Given the description of an element on the screen output the (x, y) to click on. 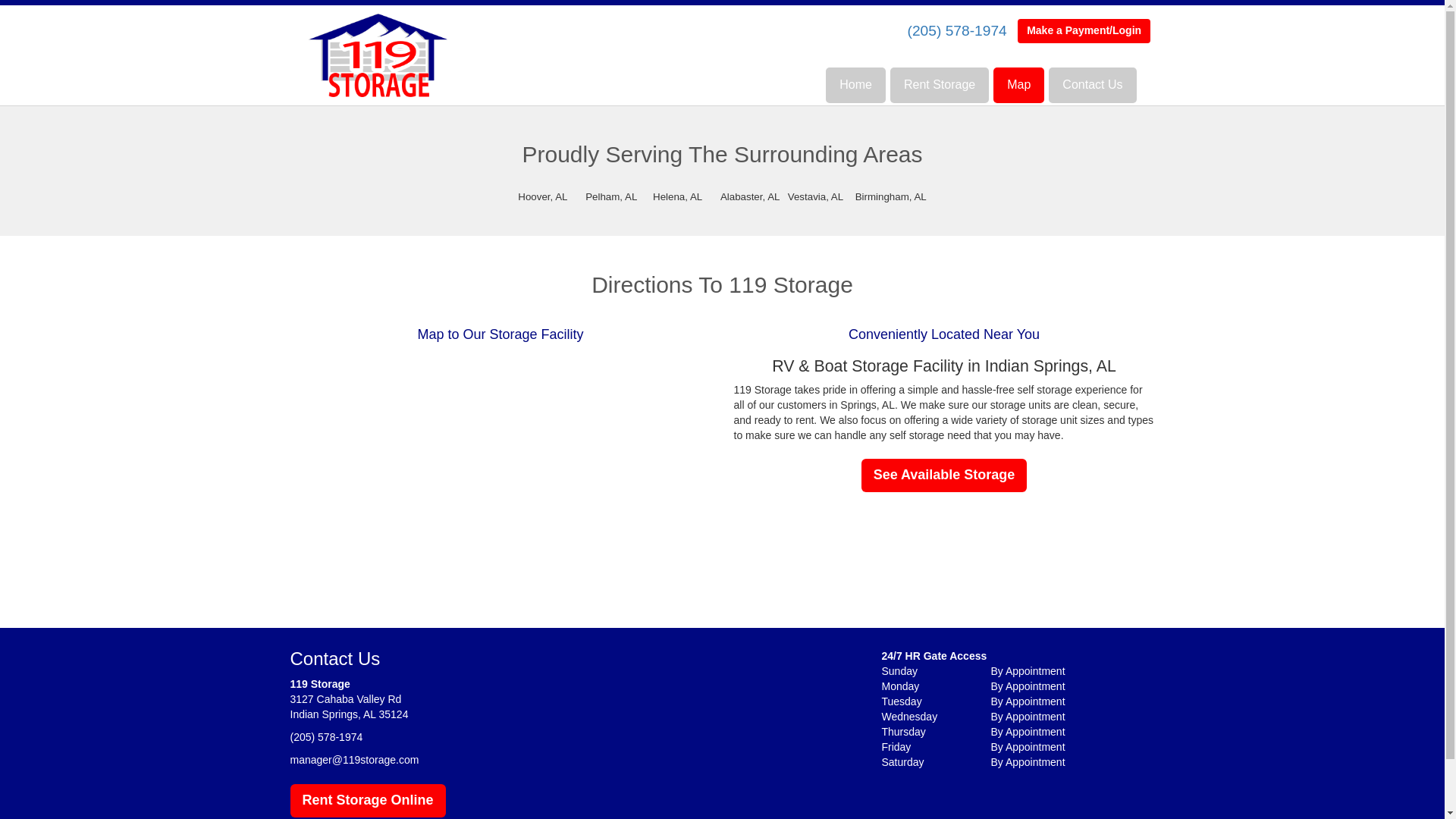
(205) 578-1974 Element type: text (957, 30)
Make a Payment/Login Element type: text (1083, 30)
See Available Storage Element type: text (944, 475)
Contact Us Element type: text (1091, 85)
Map Element type: text (1018, 85)
Rent Storage Element type: text (939, 85)
Home Element type: text (855, 85)
(205) 578-1974 Element type: text (325, 737)
Rent Storage Online Element type: text (367, 800)
manager@119storage.com Element type: text (353, 759)
